Given the description of an element on the screen output the (x, y) to click on. 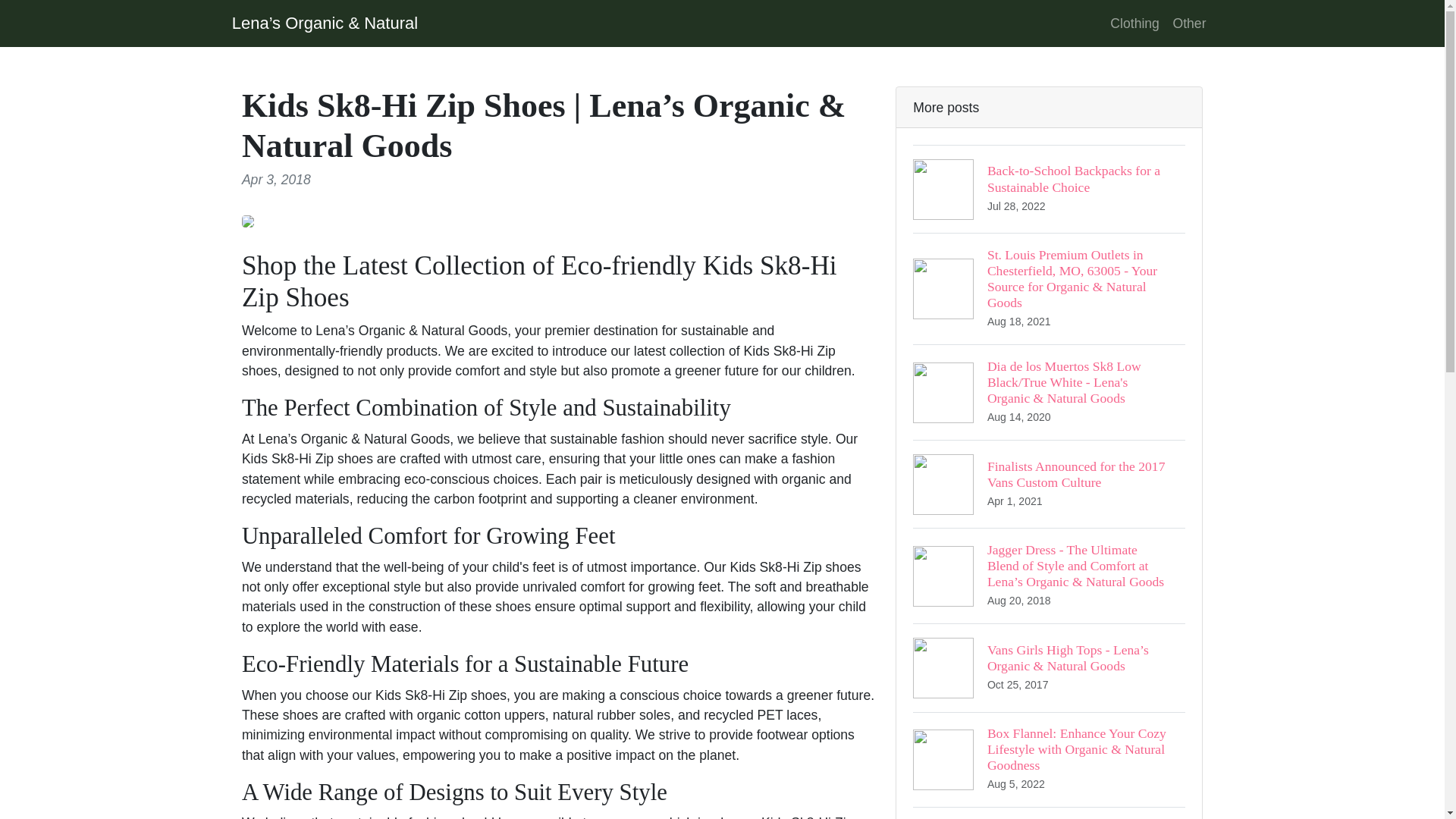
Clothing (1134, 23)
Other (1048, 812)
